Given the description of an element on the screen output the (x, y) to click on. 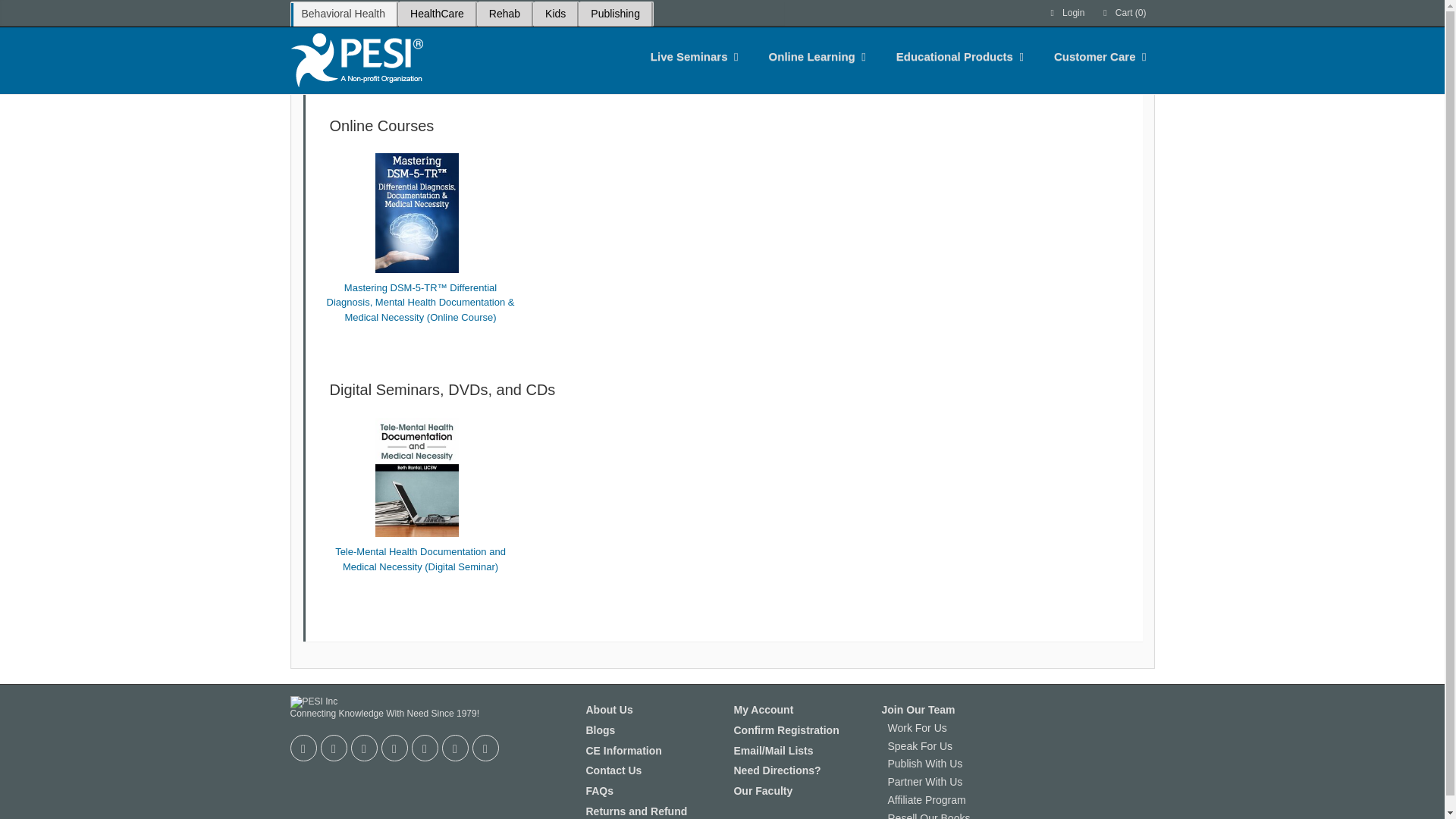
Publishing (614, 14)
HealthCare (437, 14)
Live Seminars (689, 56)
Login (1067, 13)
Behavioral Health (342, 14)
Rehab (504, 14)
Online Learning (812, 56)
Kids (555, 14)
